Given the description of an element on the screen output the (x, y) to click on. 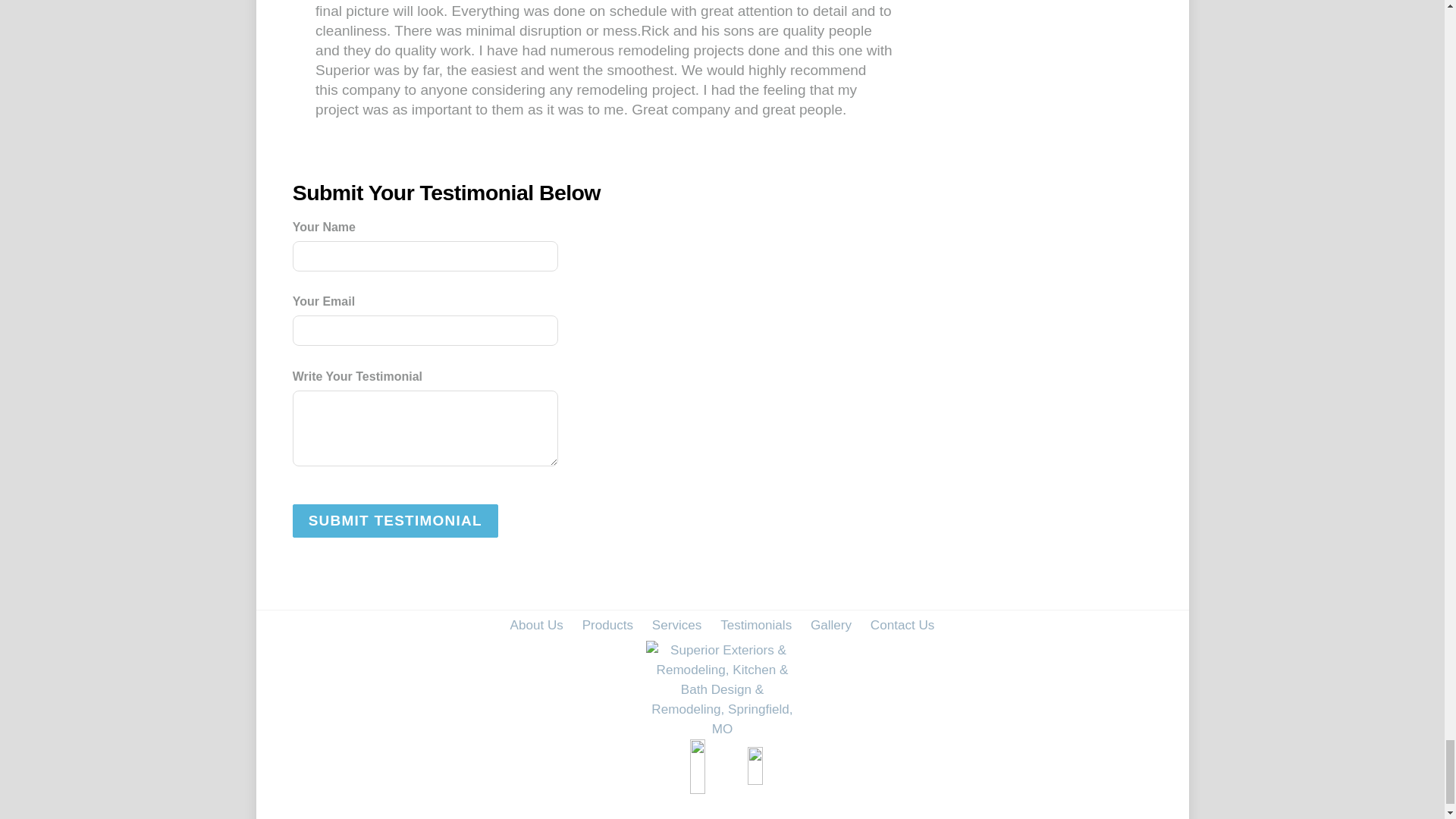
Submit Testimonial (394, 520)
Products (607, 624)
Submit Testimonial (394, 520)
About Us (536, 624)
